Given the description of an element on the screen output the (x, y) to click on. 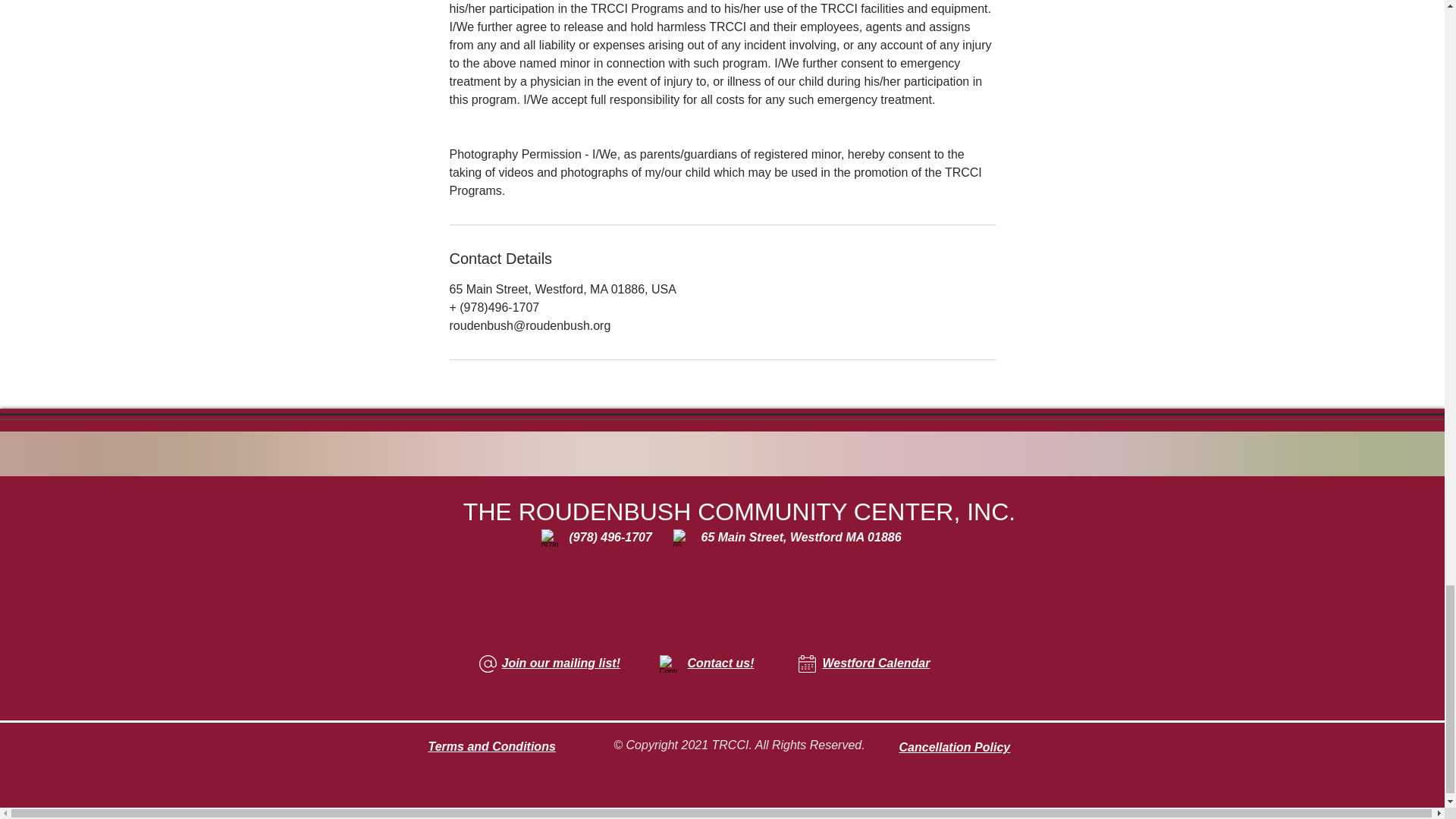
Contact us! (720, 662)
Westford Calendar (876, 662)
Terms and Conditions (491, 746)
Join our mailing list! (561, 662)
